Given the description of an element on the screen output the (x, y) to click on. 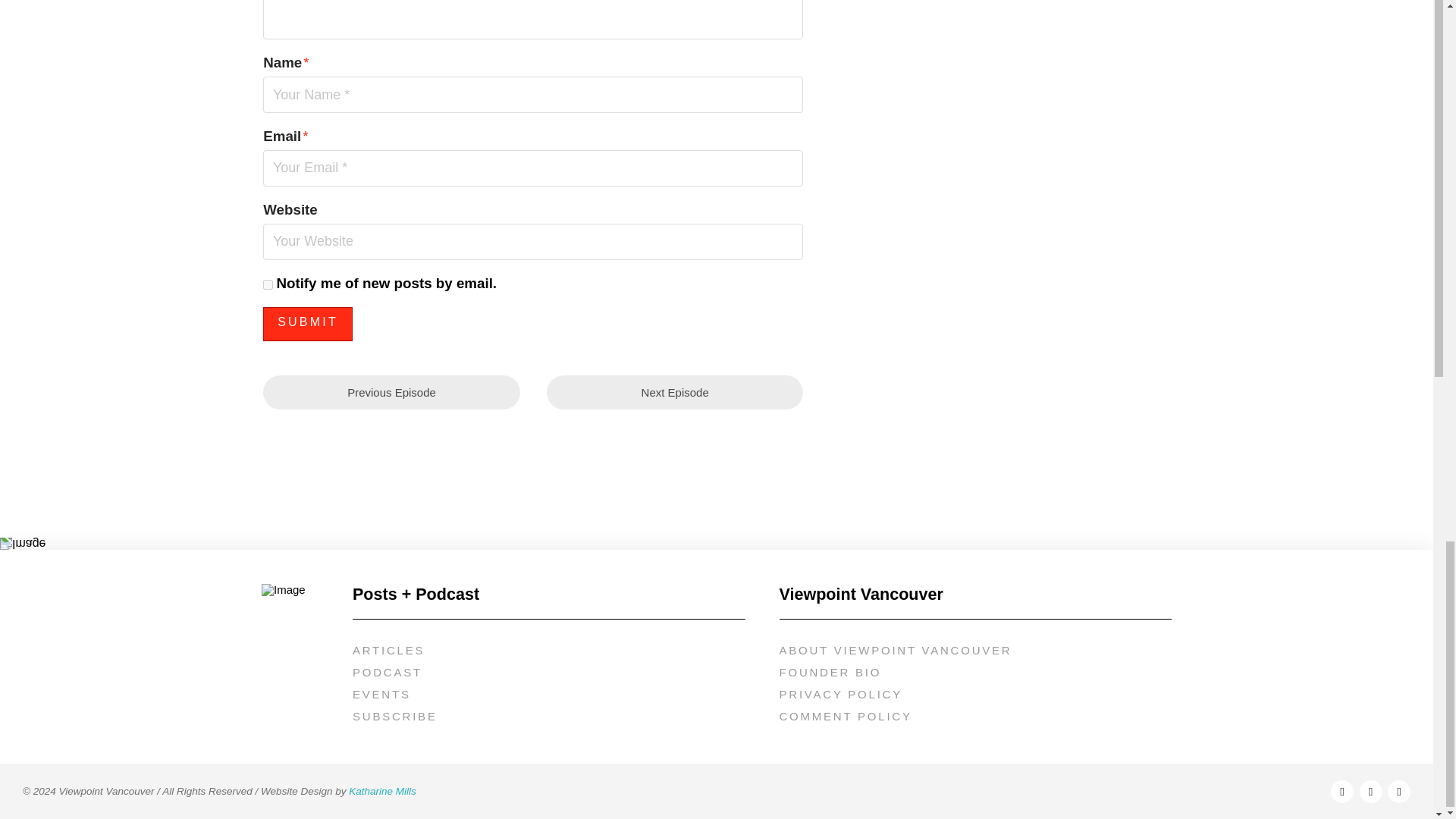
subscribe (268, 284)
